Given the description of an element on the screen output the (x, y) to click on. 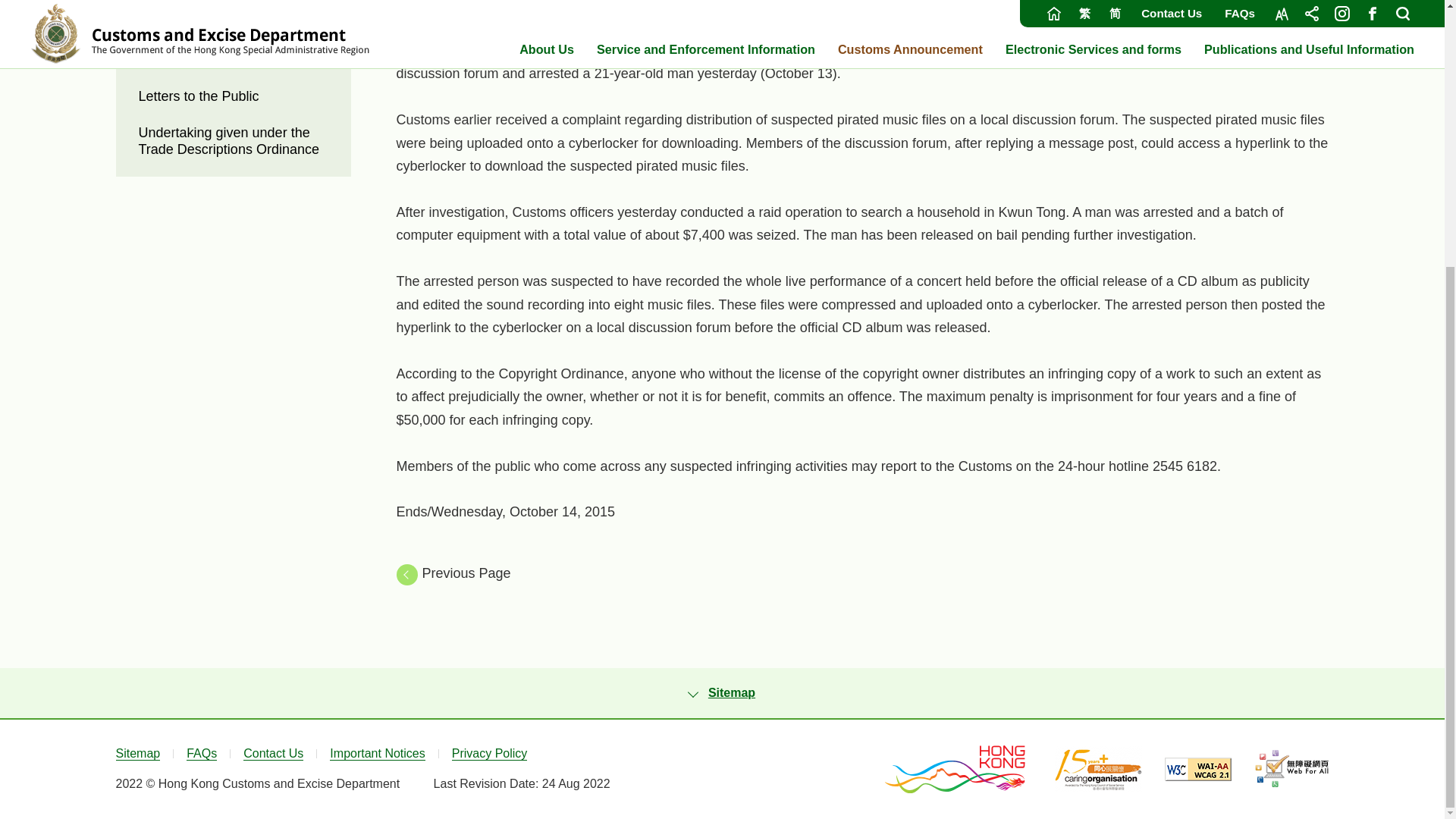
Caring Organisation, This link will open in new window (1097, 768)
WCAG 2.1 AA, This link will open in new window (1197, 769)
